Given the description of an element on the screen output the (x, y) to click on. 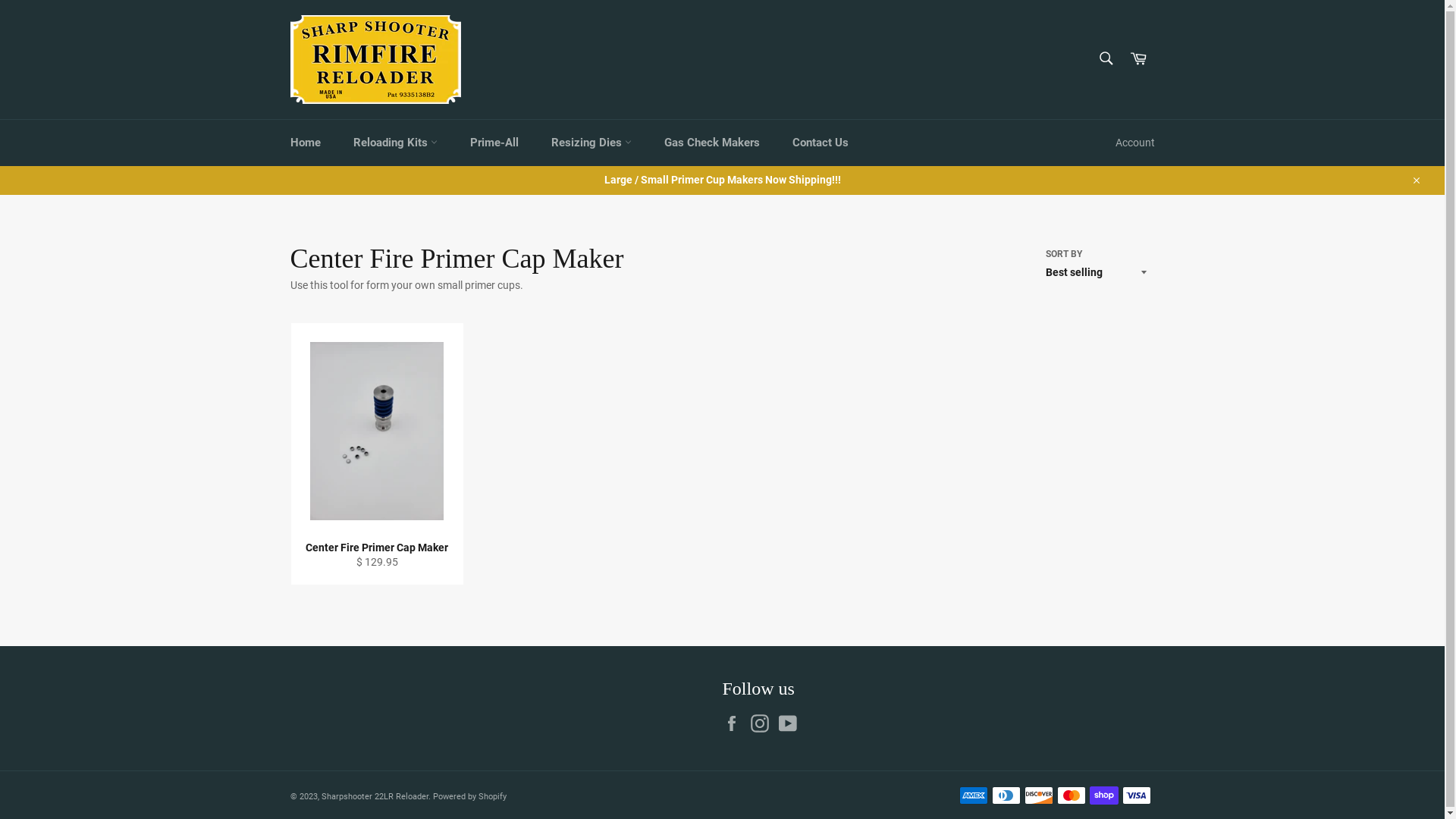
Resizing Dies Element type: text (590, 142)
Contact Us Element type: text (819, 142)
Powered by Shopify Element type: text (468, 796)
Center Fire Primer Cap Maker
Regular price
$ 129.95 Element type: text (375, 454)
Reloading Kits Element type: text (395, 142)
Facebook Element type: text (734, 723)
Home Element type: text (304, 142)
Search Element type: text (1105, 58)
Gas Check Makers Element type: text (712, 142)
Prime-All Element type: text (494, 142)
Close Element type: text (1415, 179)
Cart Element type: text (1138, 59)
YouTube Element type: text (790, 723)
Account Element type: text (1134, 142)
Instagram Element type: text (763, 723)
Sharpshooter 22LR Reloader Element type: text (374, 796)
